Given the description of an element on the screen output the (x, y) to click on. 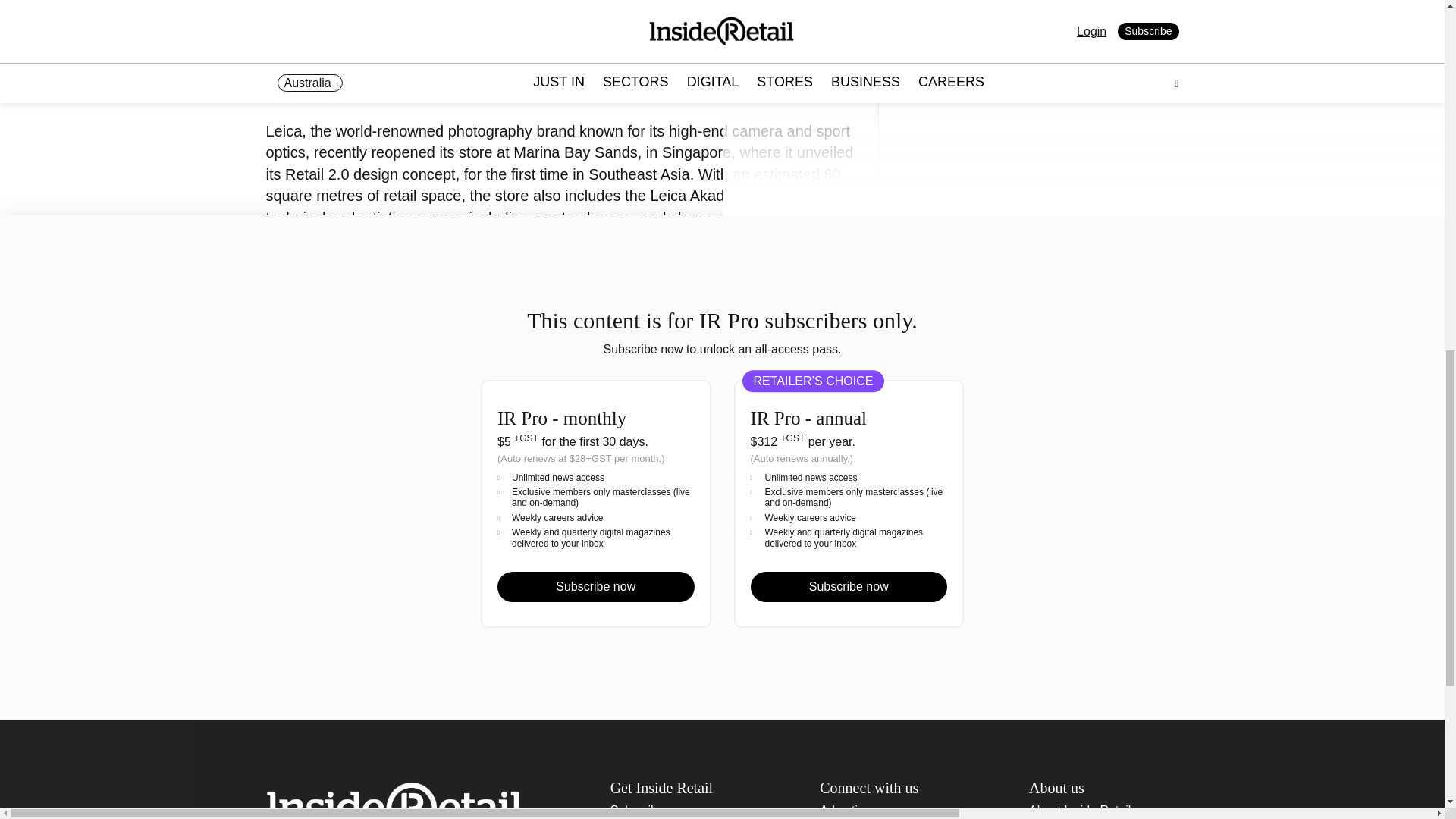
Customer (924, 248)
Store design (1134, 277)
IR Pro (1147, 248)
Sectors (1051, 277)
Stores (916, 306)
3rd party ad content (1002, 84)
